Given the description of an element on the screen output the (x, y) to click on. 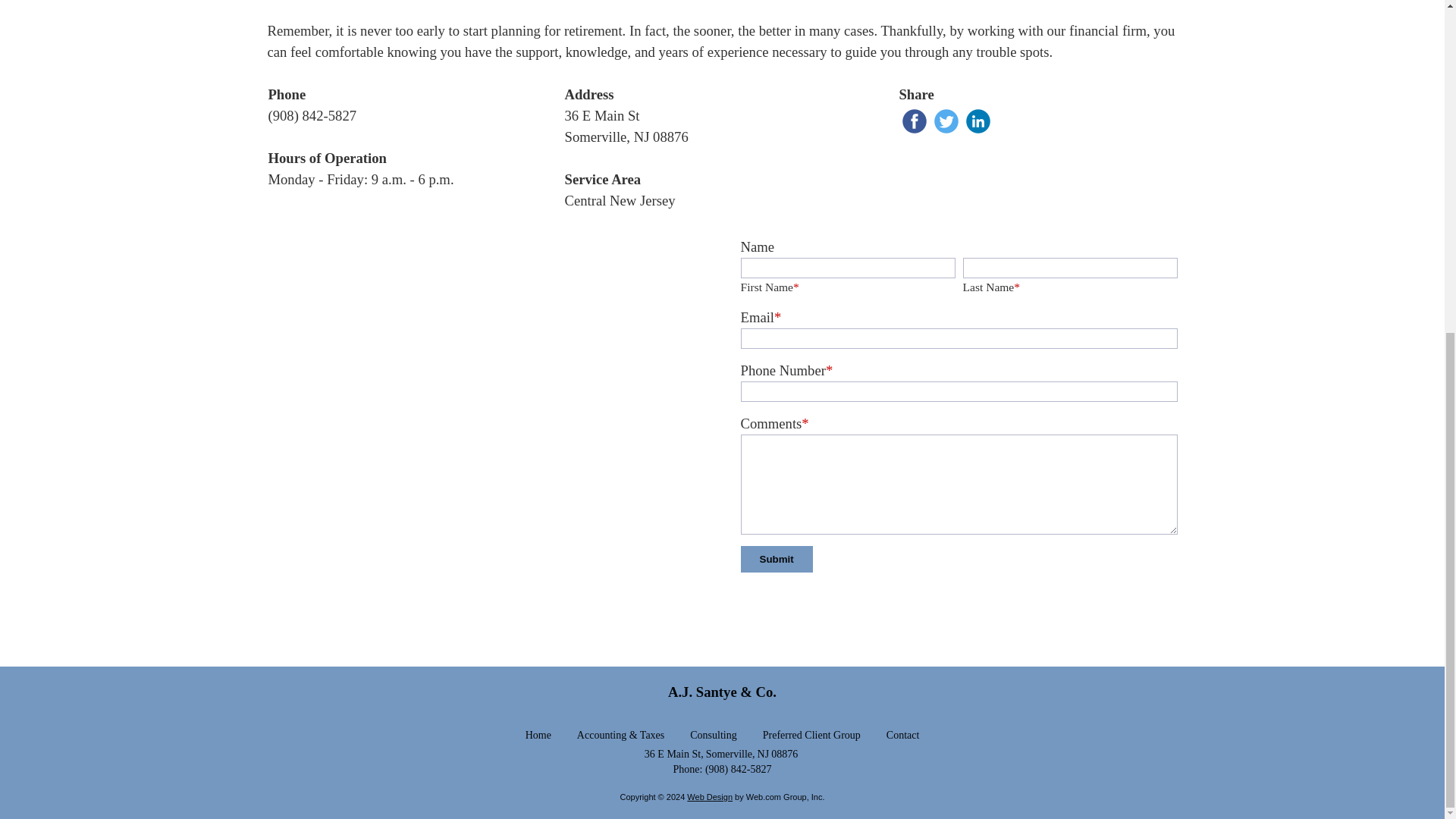
Home (538, 734)
Submit (775, 559)
Contact (903, 734)
Web Design (709, 796)
Preferred Client Group (811, 734)
Submit (775, 559)
Consulting (713, 734)
